Given the description of an element on the screen output the (x, y) to click on. 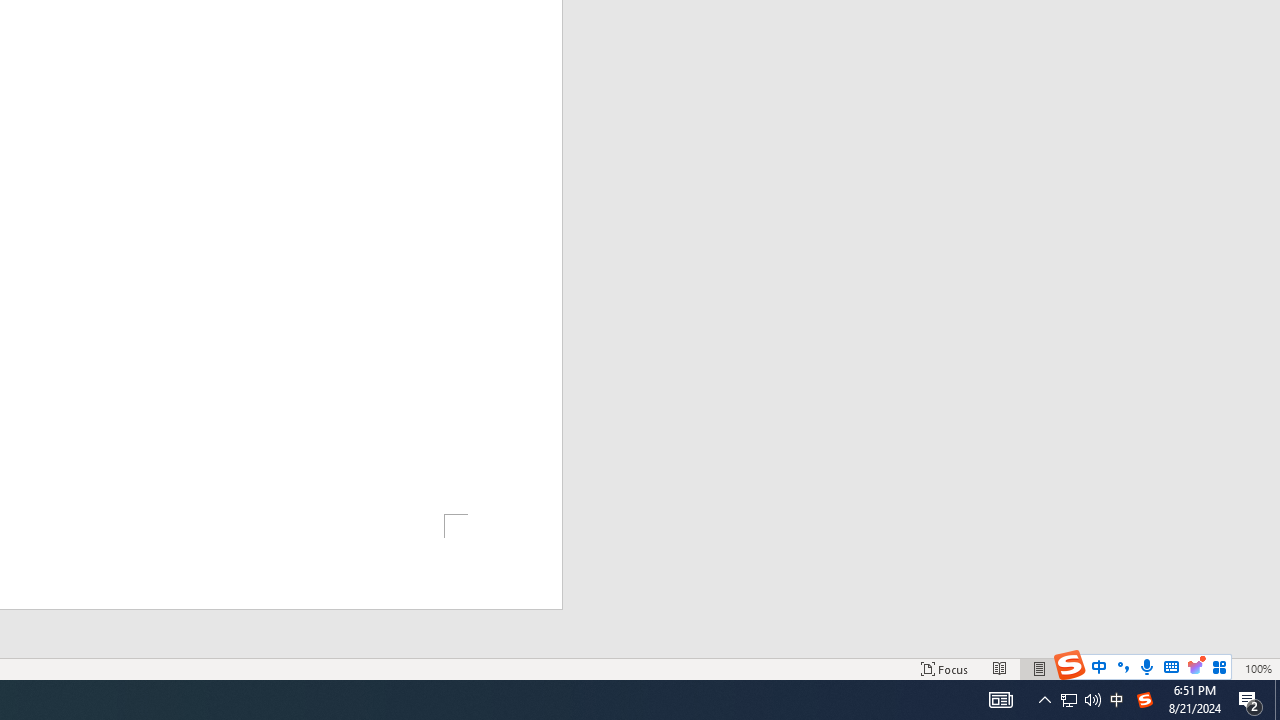
Zoom In (1227, 668)
Zoom Out (1142, 668)
Zoom (1168, 668)
Zoom 100% (1258, 668)
Web Layout (1079, 668)
Print Layout (1039, 668)
Focus  (944, 668)
Read Mode (1000, 668)
